Given the description of an element on the screen output the (x, y) to click on. 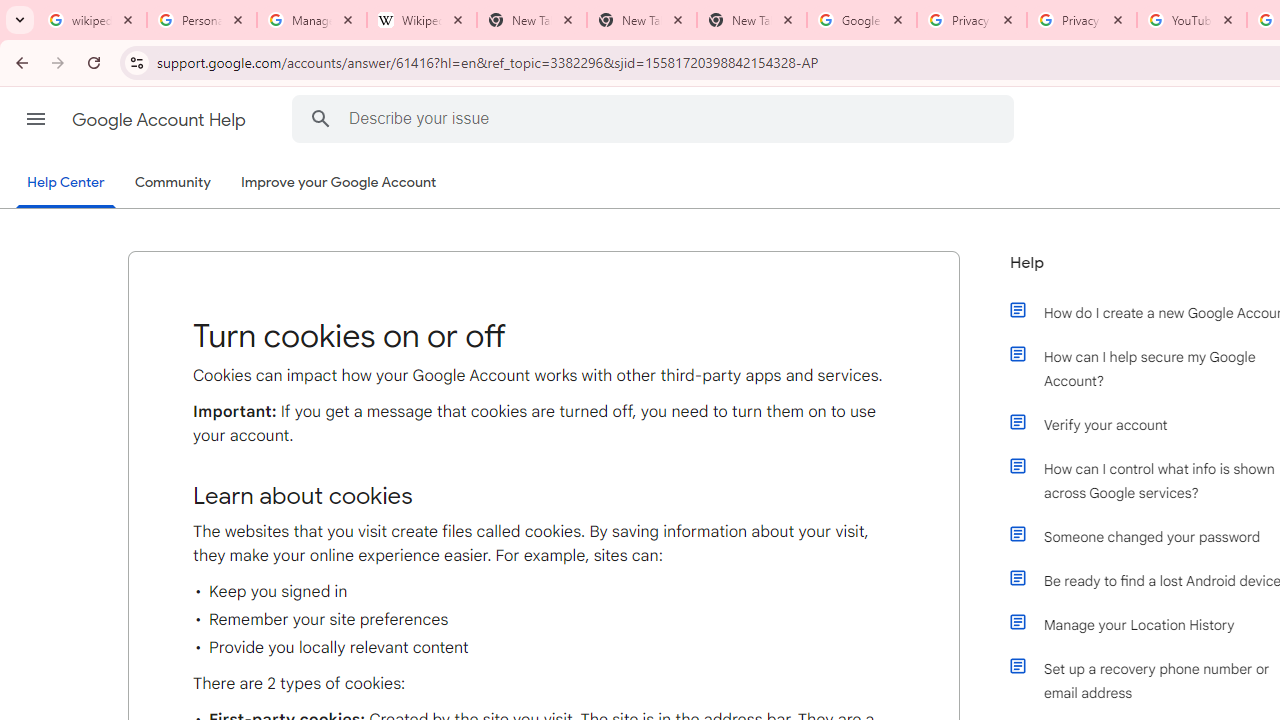
New Tab (642, 20)
Help Center (65, 183)
Personalization & Google Search results - Google Search Help (202, 20)
Improve your Google Account (339, 183)
Describe your issue (655, 118)
YouTube (1191, 20)
Search Help Center (320, 118)
Main menu (35, 119)
